Given the description of an element on the screen output the (x, y) to click on. 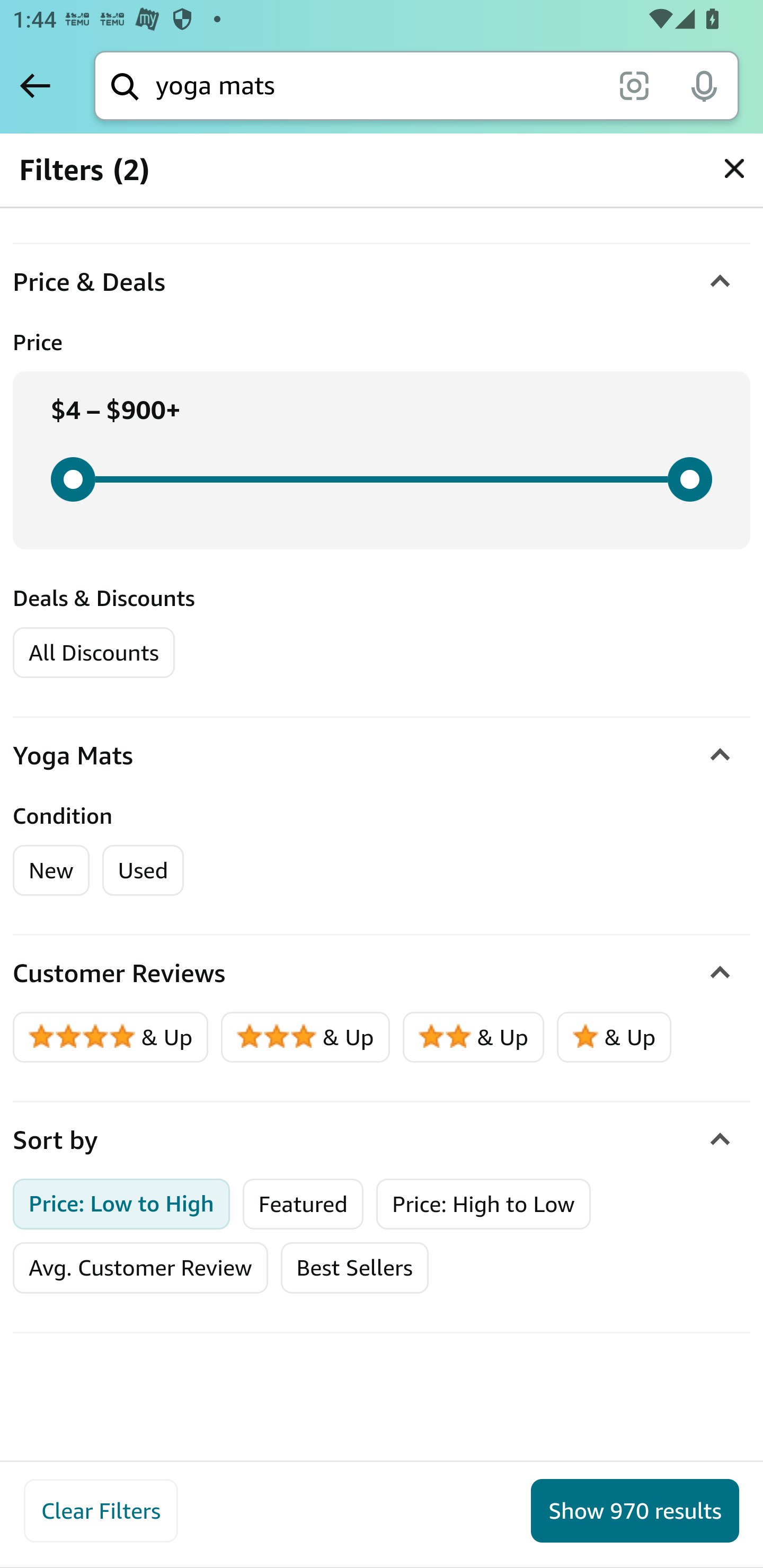
Back (35, 85)
scan it (633, 85)
Multi Multi Multi Multi (76, 178)
Price & Deals (381, 282)
All Discounts (93, 651)
Yoga Mats (381, 755)
New (51, 869)
Used (142, 869)
Customer Reviews (381, 973)
4 Stars & Up (110, 1037)
3 Stars & Up (305, 1037)
2 Stars & Up (473, 1037)
1 Star & Up (614, 1037)
Sort by (381, 1139)
Featured (302, 1203)
Price: High to Low (483, 1203)
Avg. Customer Review (140, 1267)
Best Sellers (354, 1267)
Clear Filters (100, 1510)
Show 970 results (635, 1510)
